Given the description of an element on the screen output the (x, y) to click on. 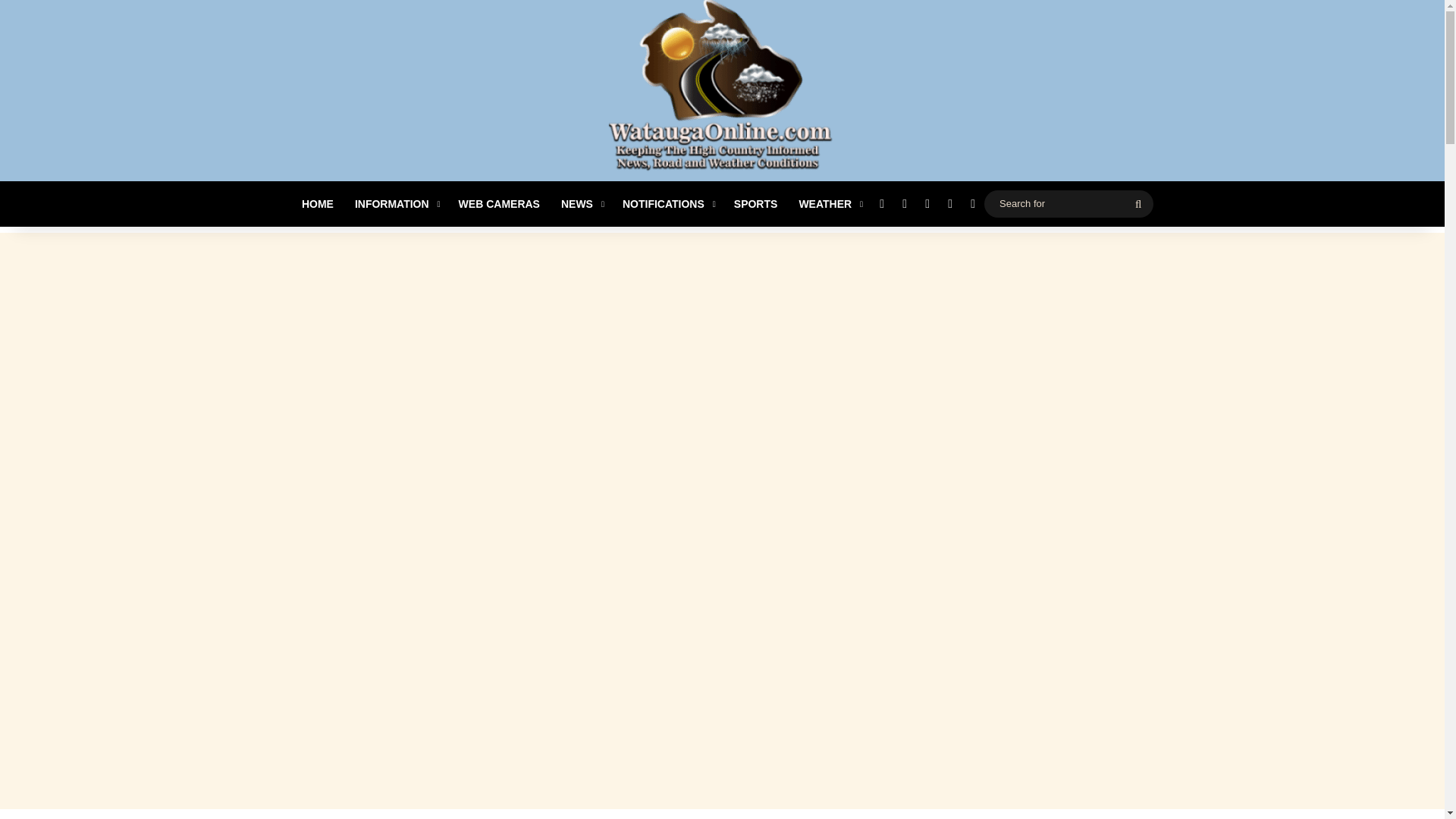
SPORTS (756, 203)
WataugaOnline.com (721, 92)
WEATHER (828, 203)
INFORMATION (395, 203)
HOME (317, 203)
Search for (1068, 203)
WEB CAMERAS (499, 203)
NEWS (580, 203)
NOTIFICATIONS (667, 203)
